Given the description of an element on the screen output the (x, y) to click on. 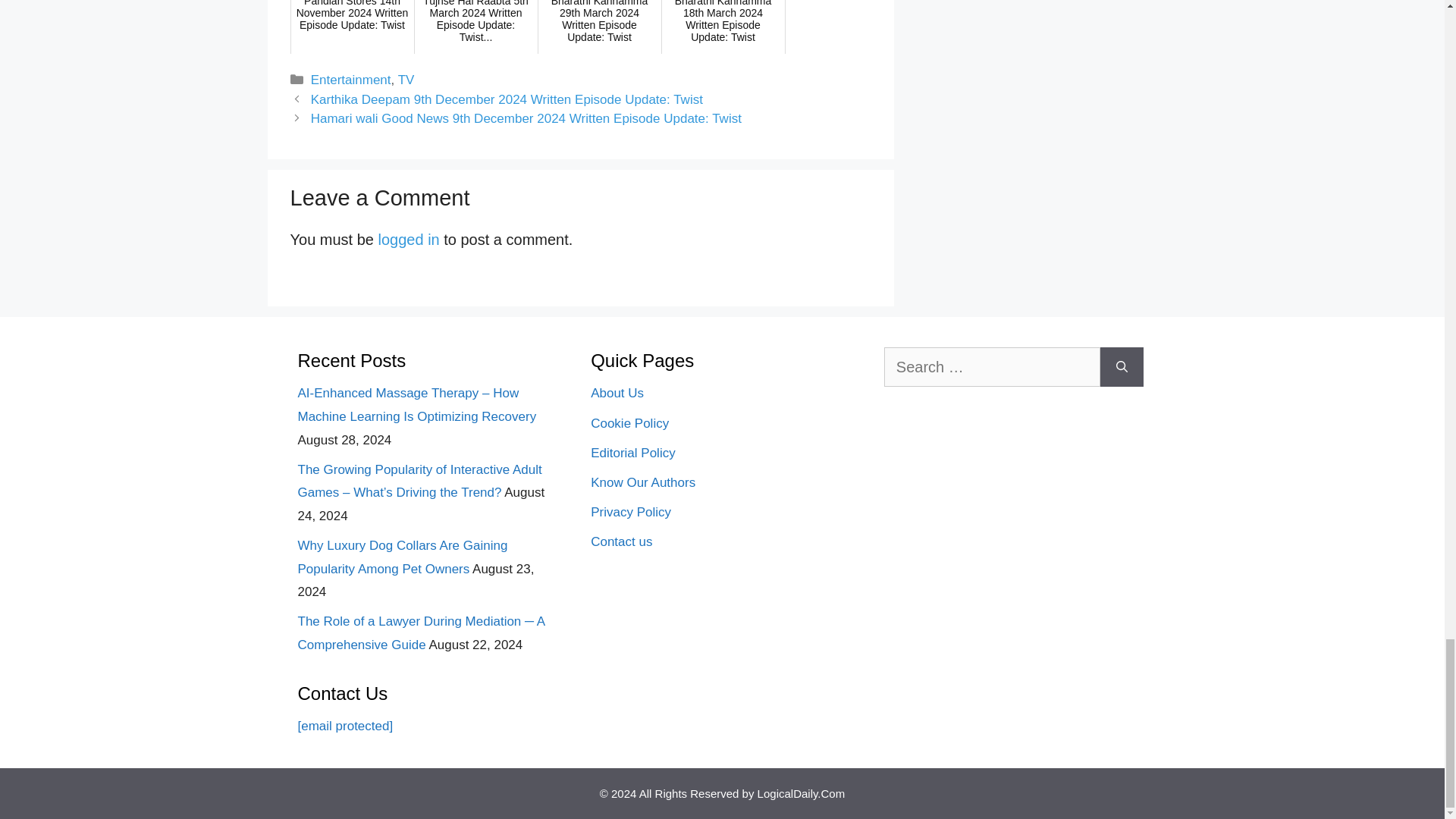
Entertainment (351, 79)
TV (405, 79)
logged in (408, 239)
Search for: (991, 366)
